Given the description of an element on the screen output the (x, y) to click on. 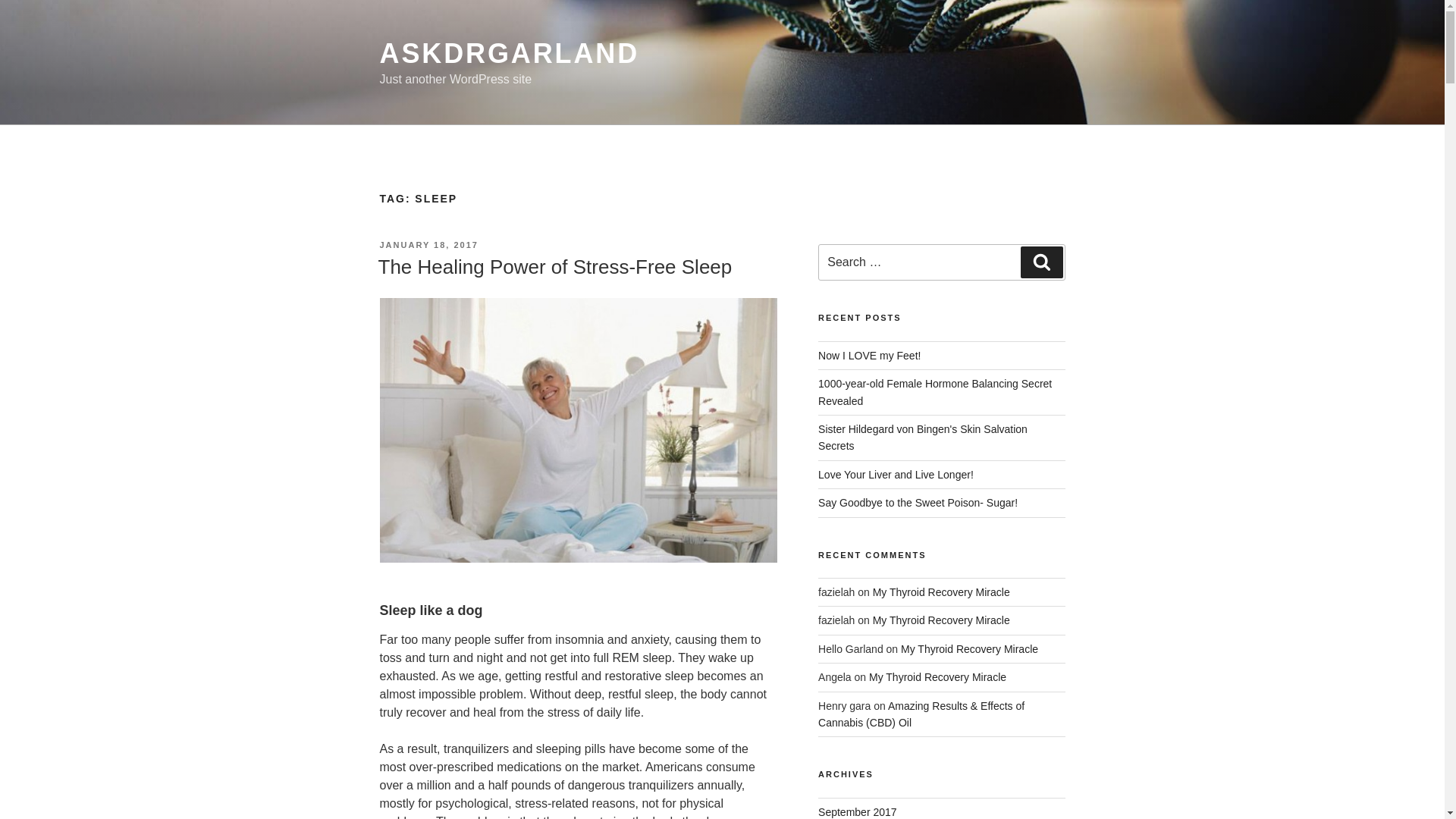
ASKDRGARLAND (508, 52)
Now I LOVE my Feet! (869, 355)
The Healing Power of Stress-Free Sleep (554, 266)
JANUARY 18, 2017 (427, 244)
Search (1041, 262)
1000-year-old Female Hormone Balancing Secret Revealed (934, 391)
